Given the description of an element on the screen output the (x, y) to click on. 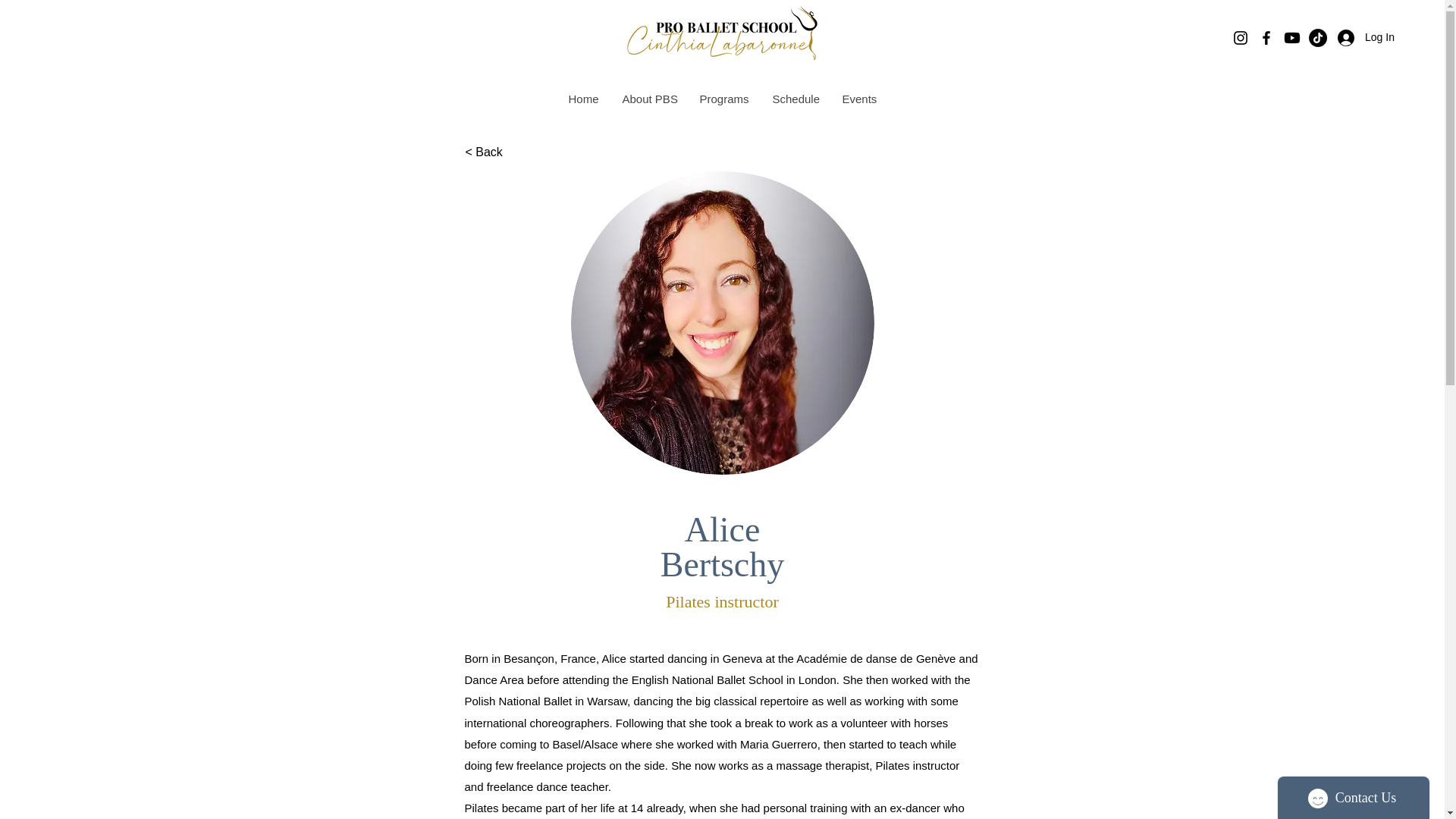
Home (583, 98)
Alice Bertschy.jpeg (721, 323)
Events (857, 98)
Log In (1356, 37)
Schedule (794, 98)
